Given the description of an element on the screen output the (x, y) to click on. 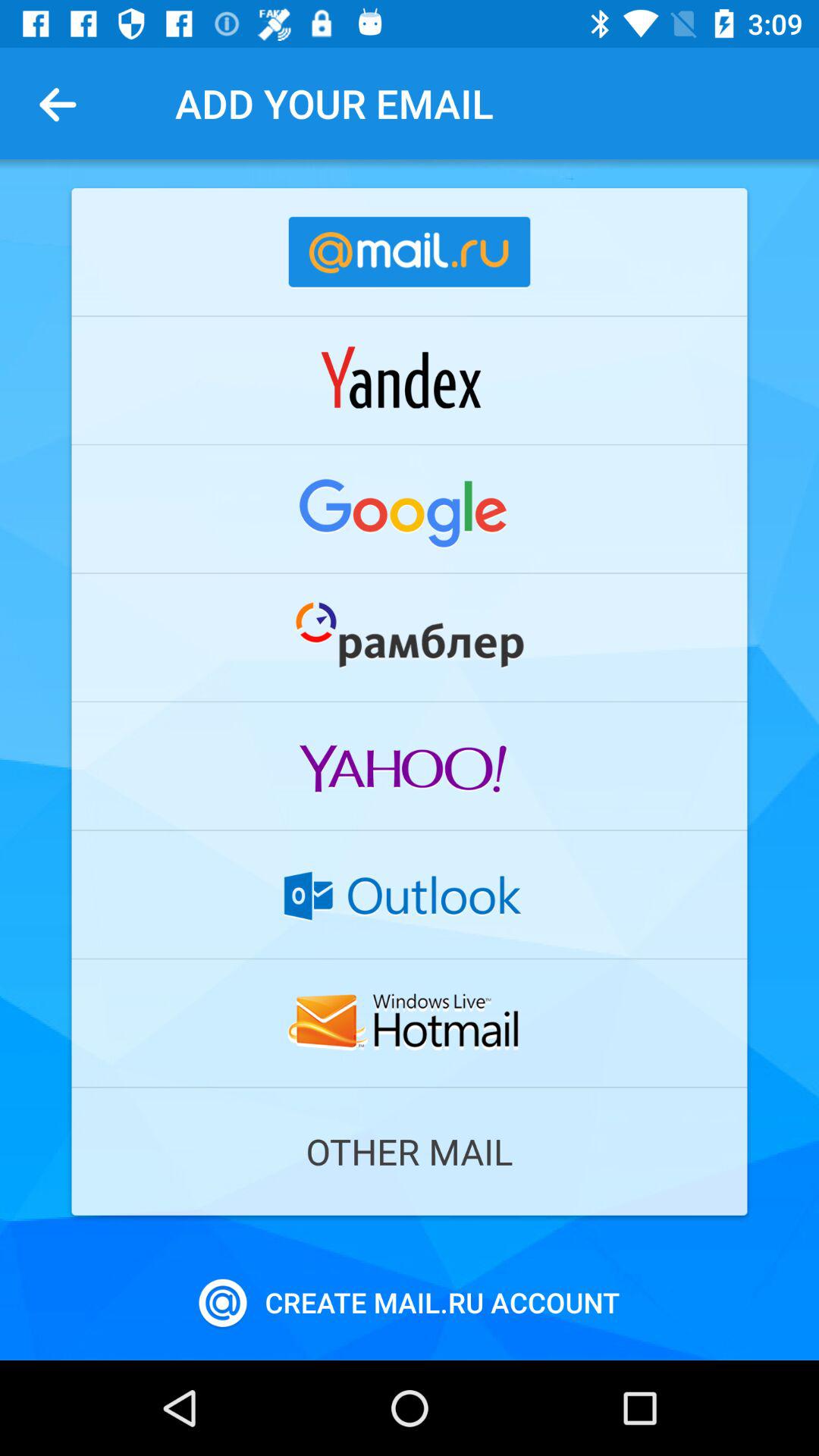
add yahoo email (409, 765)
